Given the description of an element on the screen output the (x, y) to click on. 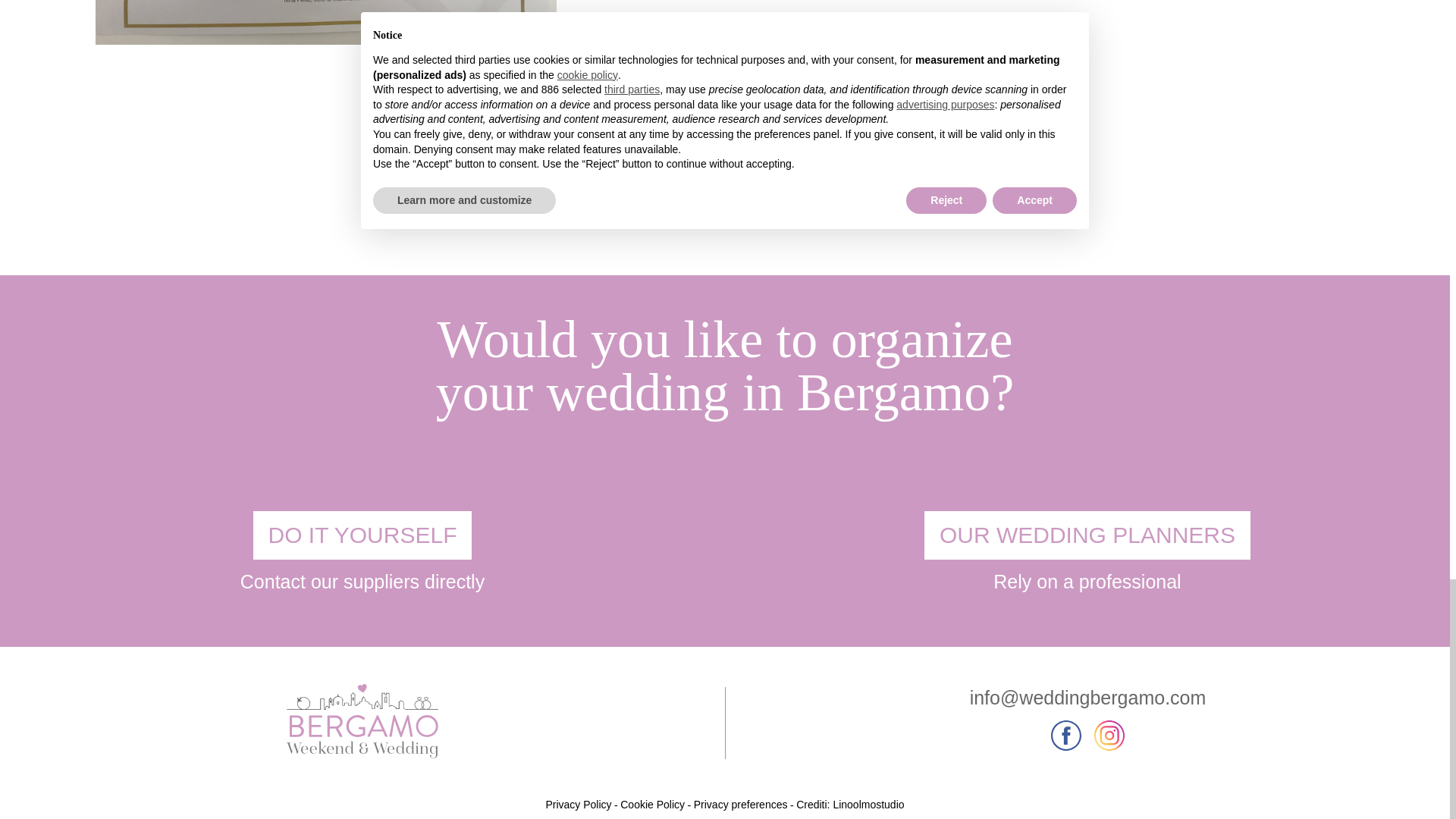
Privacy Policy  (577, 804)
segui wedding bergamo su facebook (1068, 747)
segui wedding bergamo su instagram (1109, 747)
DO IT YOURSELF (362, 534)
Cookie Policy  (652, 804)
OUR WEDDING PLANNERS (1086, 534)
SEE ALL CATEGORIES (564, 144)
